Given the description of an element on the screen output the (x, y) to click on. 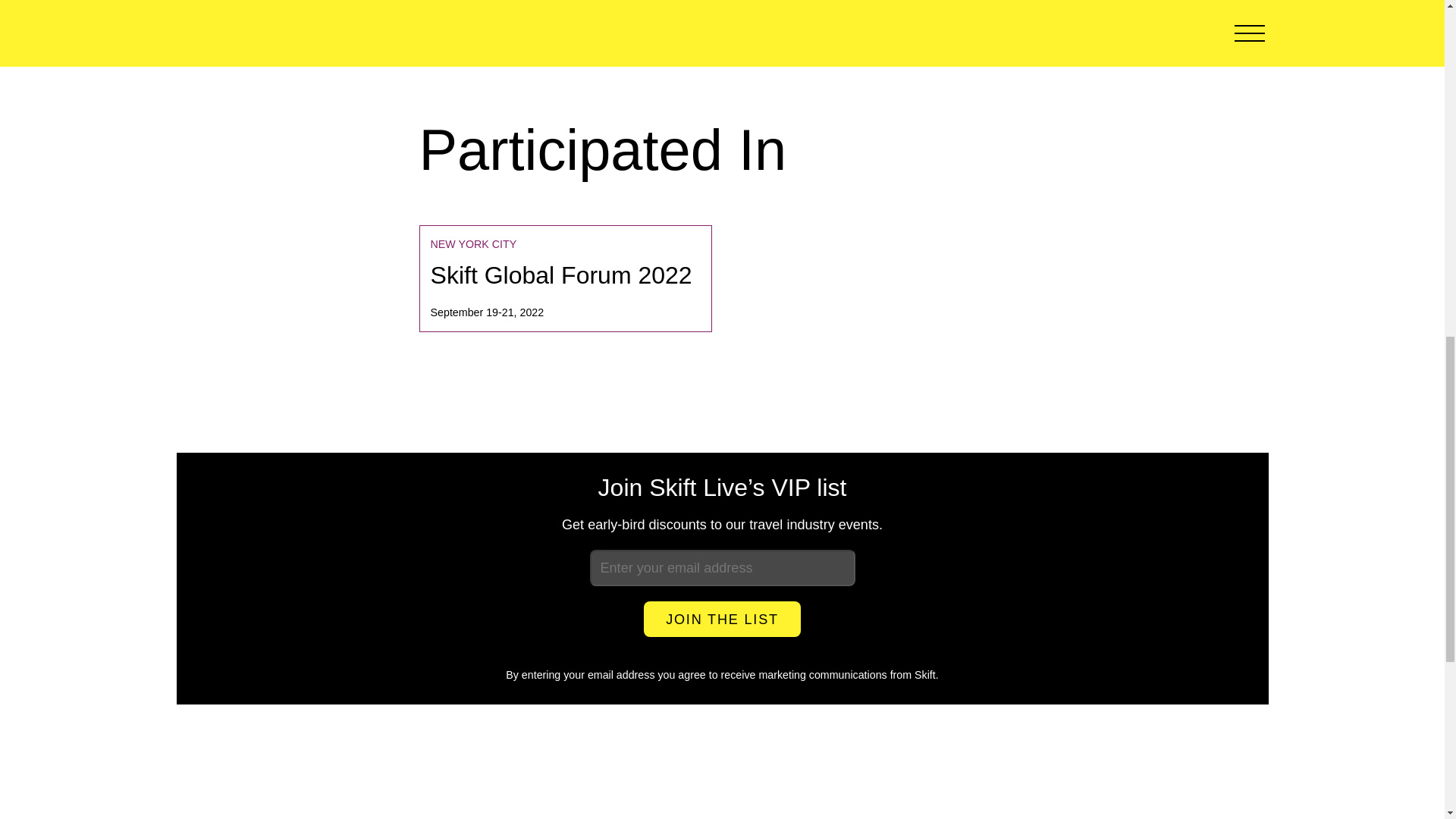
Join the list (721, 619)
Join the list (721, 619)
